Given the description of an element on the screen output the (x, y) to click on. 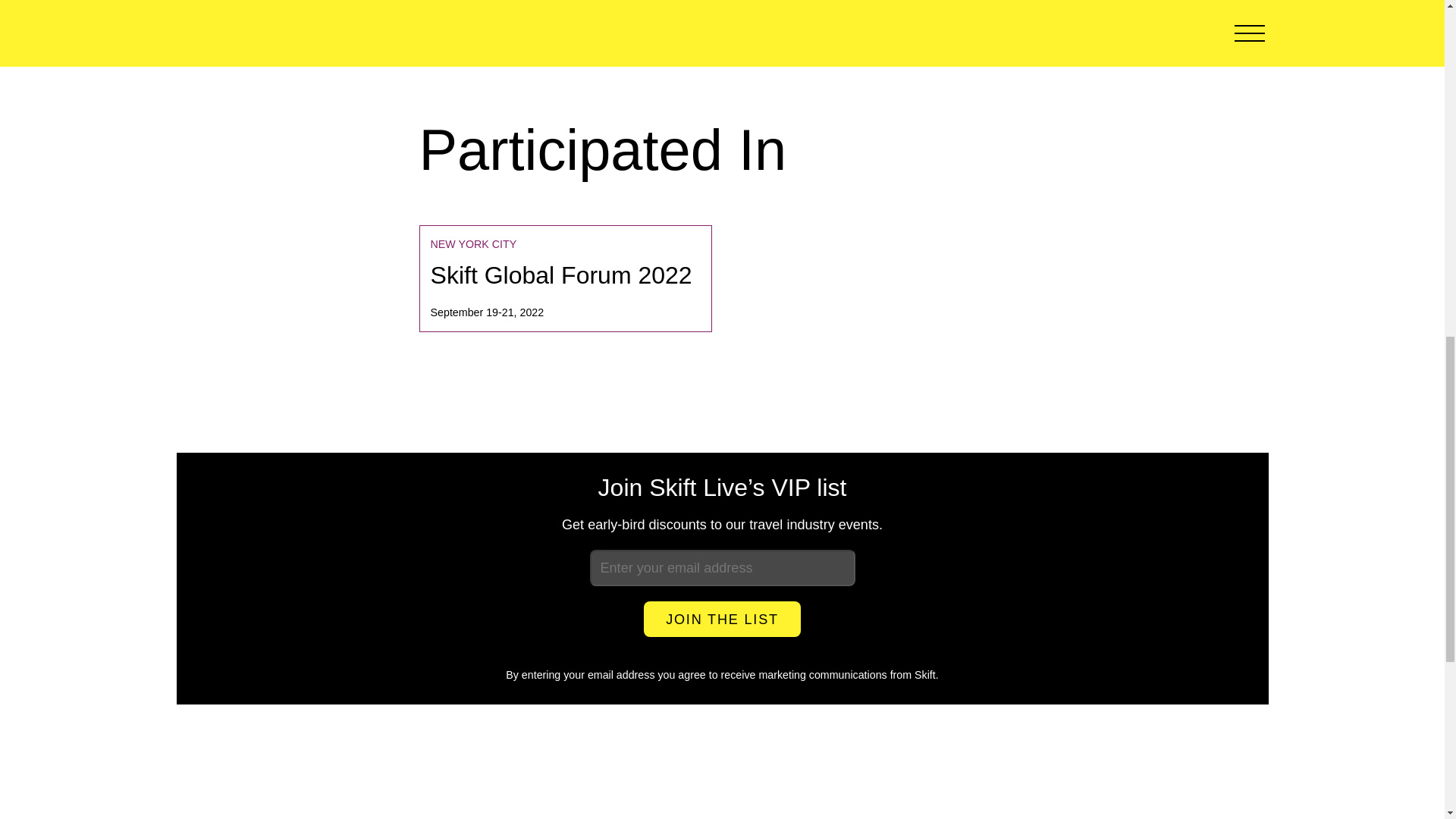
Join the list (721, 619)
Join the list (721, 619)
